Given the description of an element on the screen output the (x, y) to click on. 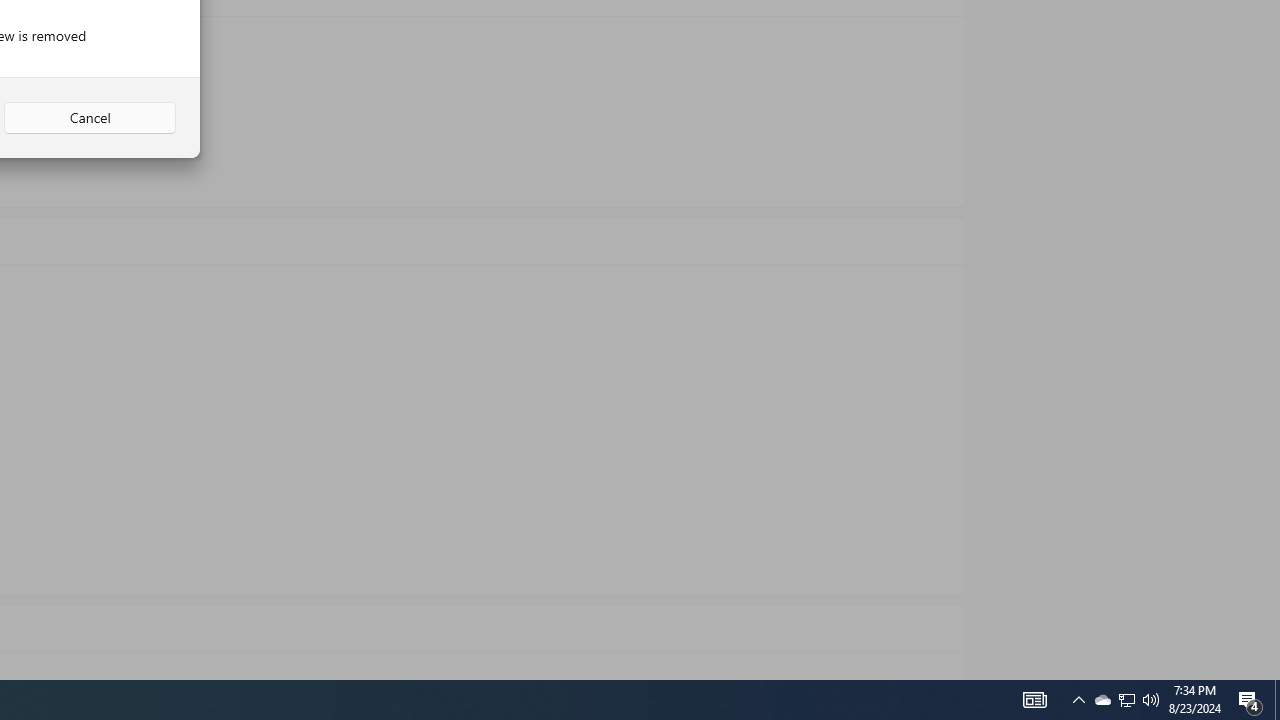
Cancel (89, 117)
